Given the description of an element on the screen output the (x, y) to click on. 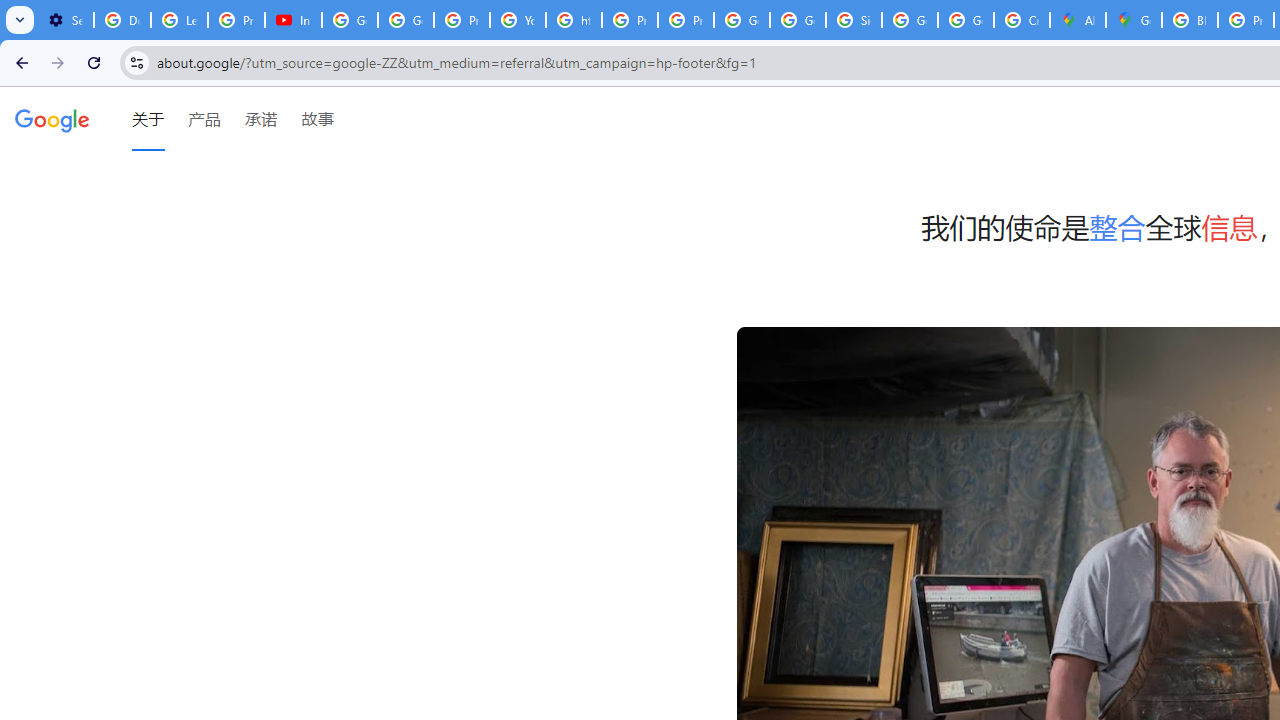
Blogger Policies and Guidelines - Transparency Center (1190, 20)
Privacy Help Center - Policies Help (461, 20)
Sign in - Google Accounts (853, 20)
Google Account Help (349, 20)
Introduction | Google Privacy Policy - YouTube (293, 20)
